Given the description of an element on the screen output the (x, y) to click on. 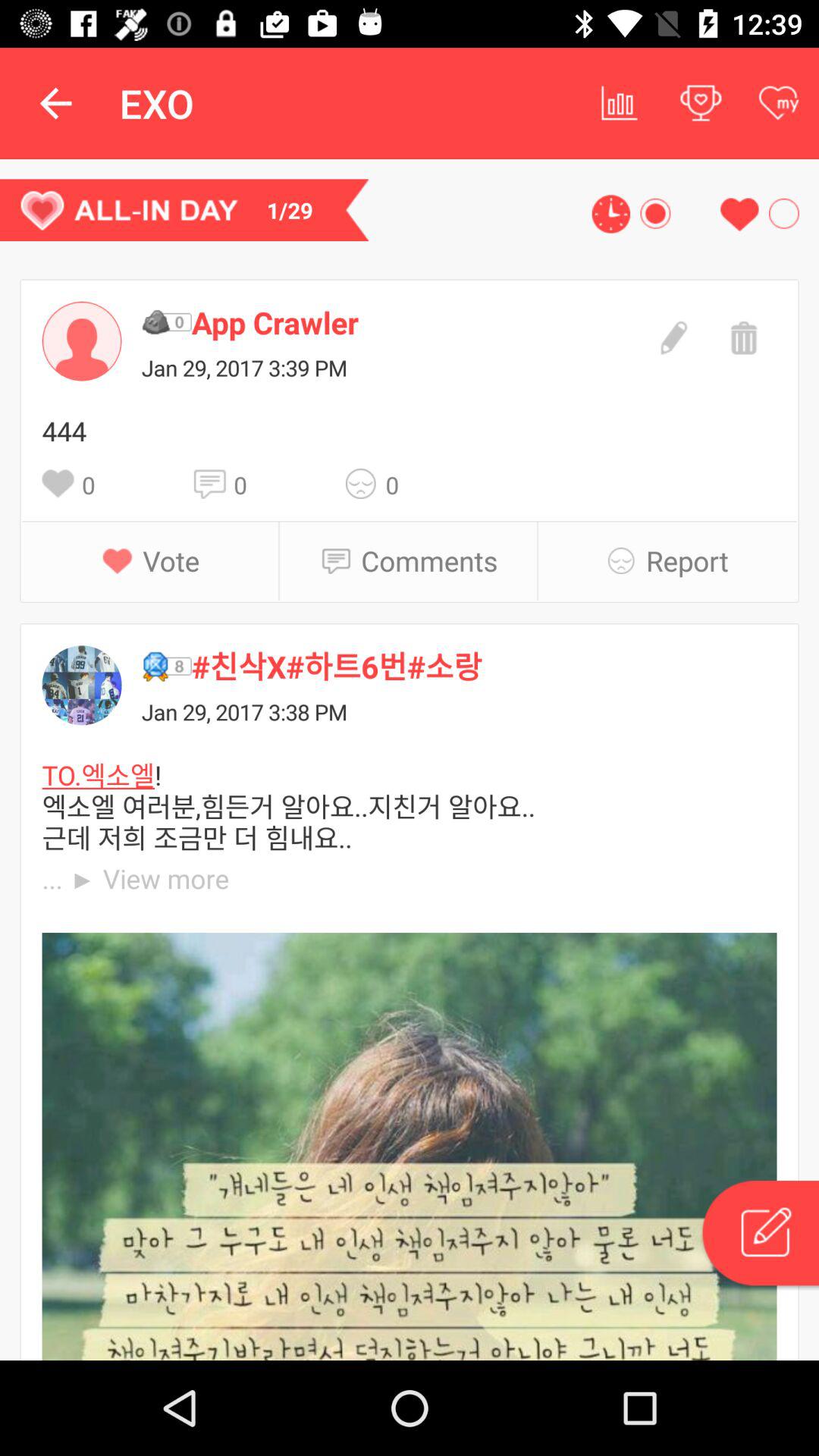
delete the message (741, 336)
